Given the description of an element on the screen output the (x, y) to click on. 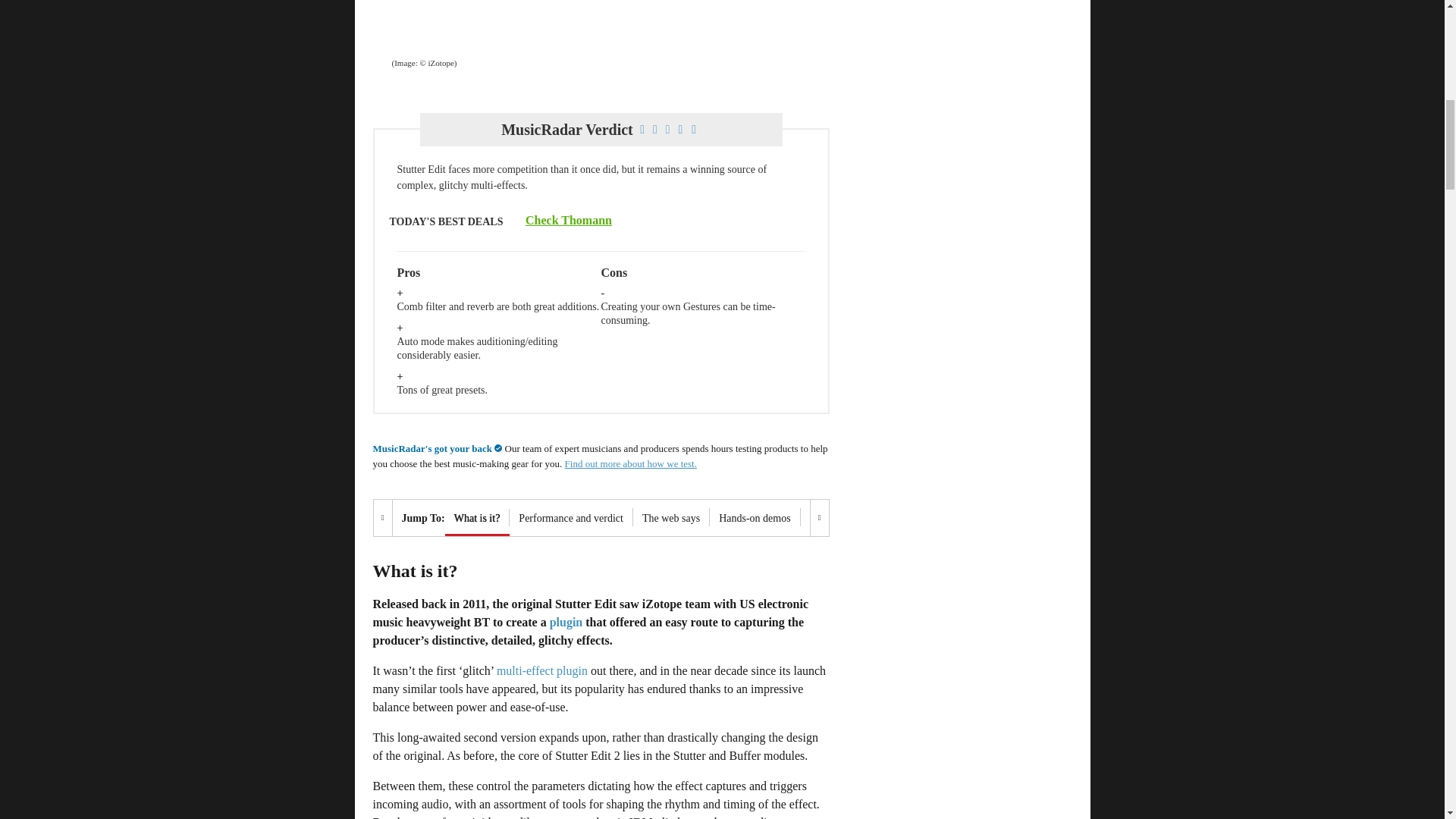
Jump To: (419, 517)
